Given the description of an element on the screen output the (x, y) to click on. 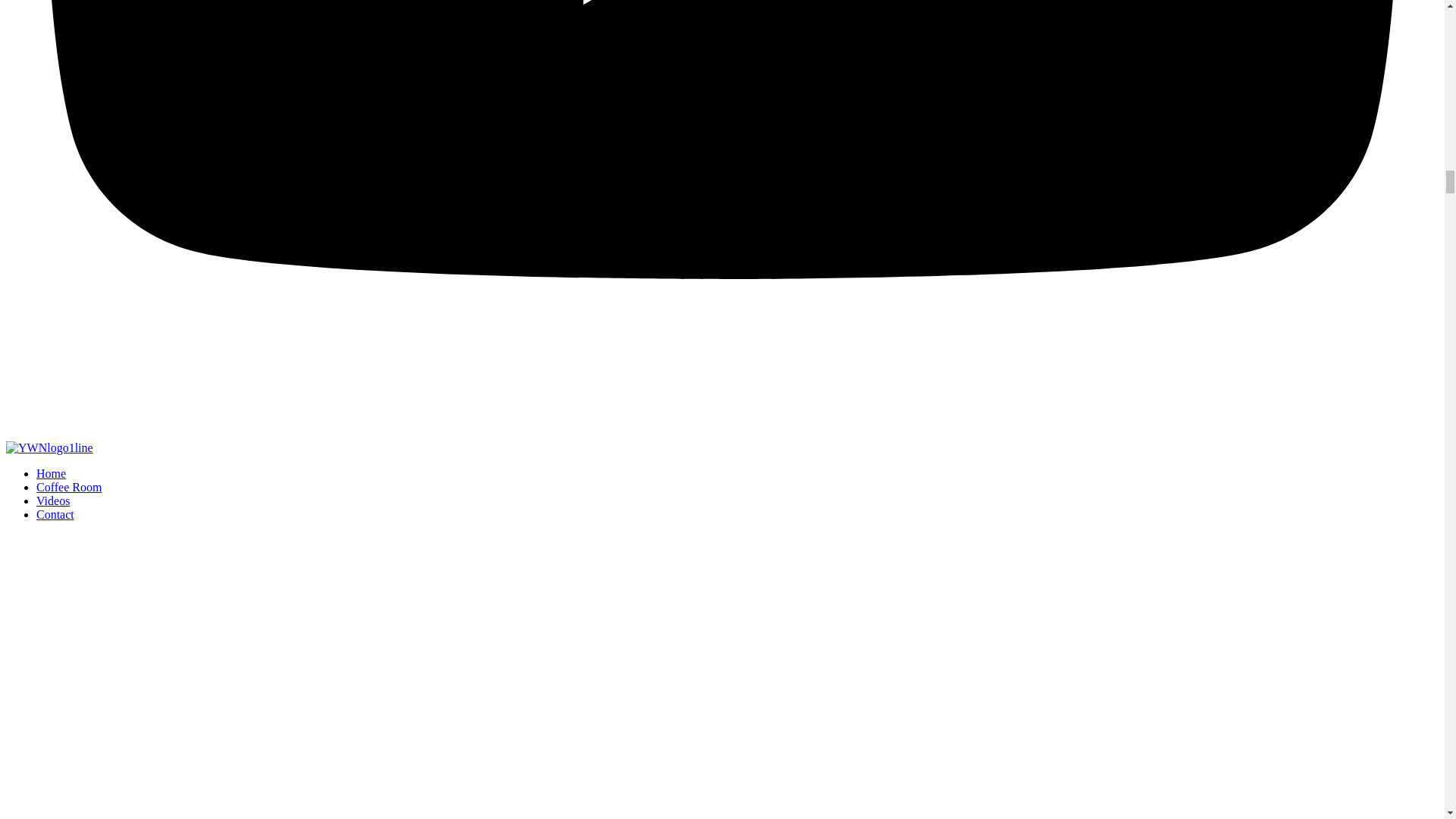
YWNlogo1line (49, 448)
Contact (55, 513)
Home (50, 472)
Coffee Room (68, 486)
Videos (52, 500)
